Given the description of an element on the screen output the (x, y) to click on. 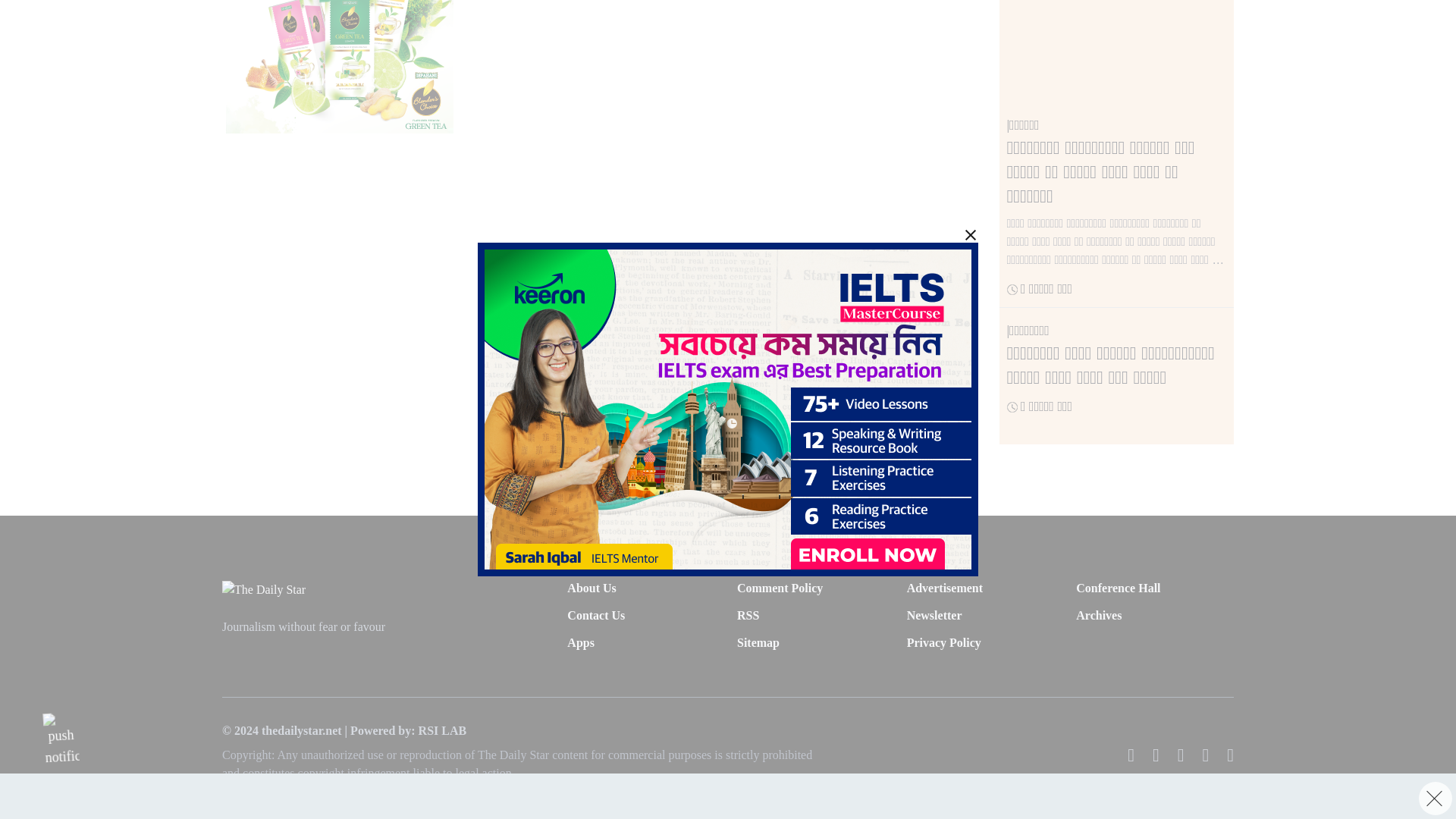
3rd party ad content (727, 99)
3rd party ad content (338, 66)
3rd party ad content (720, 71)
